Given the description of an element on the screen output the (x, y) to click on. 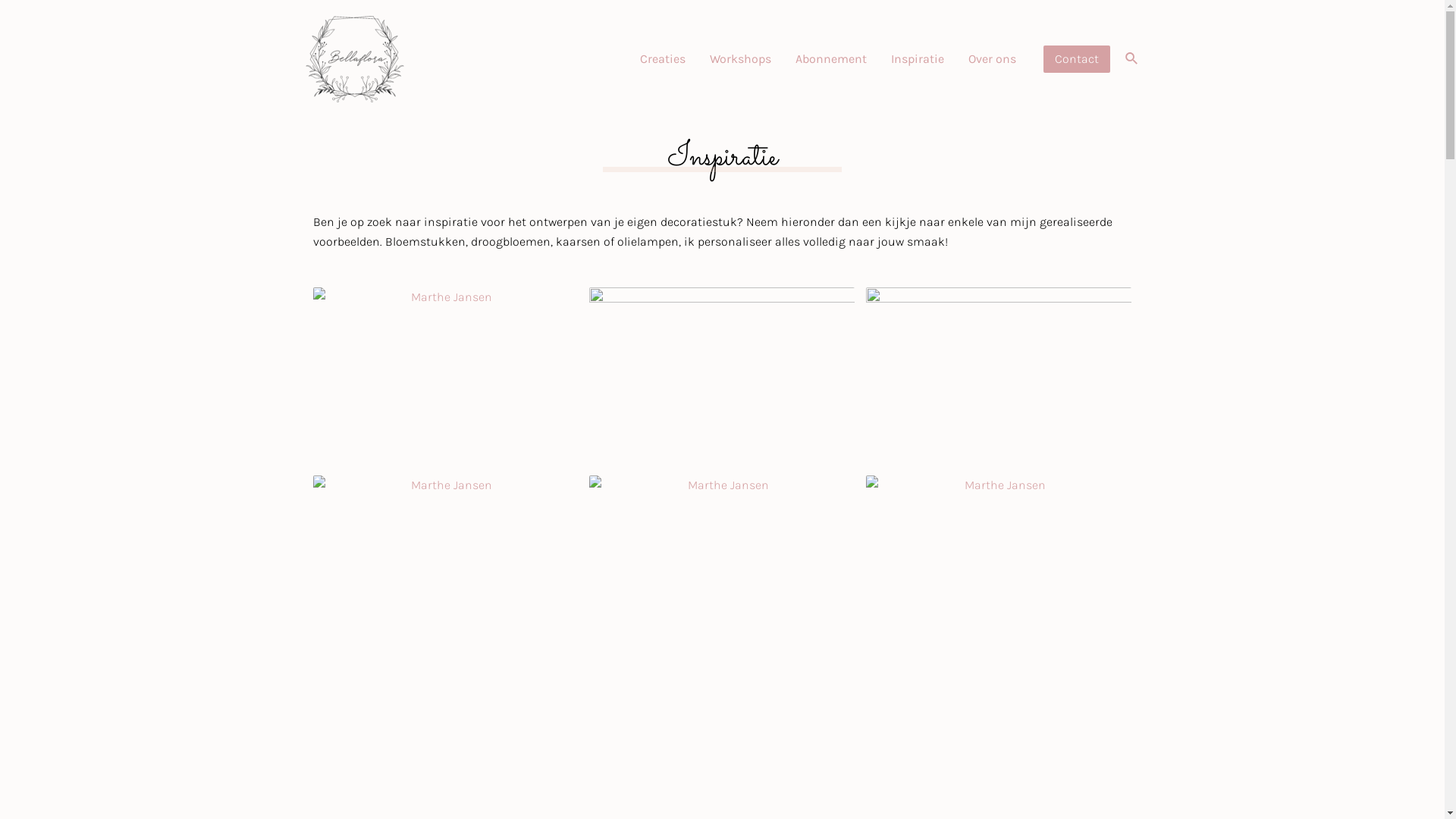
Zoeken Element type: text (1132, 59)
Workshops Element type: text (740, 59)
Abonnement Element type: text (830, 59)
Creaties Element type: text (662, 59)
Inspiratie Element type: text (917, 59)
Over ons Element type: text (992, 59)
Contact Element type: text (1076, 58)
